Given the description of an element on the screen output the (x, y) to click on. 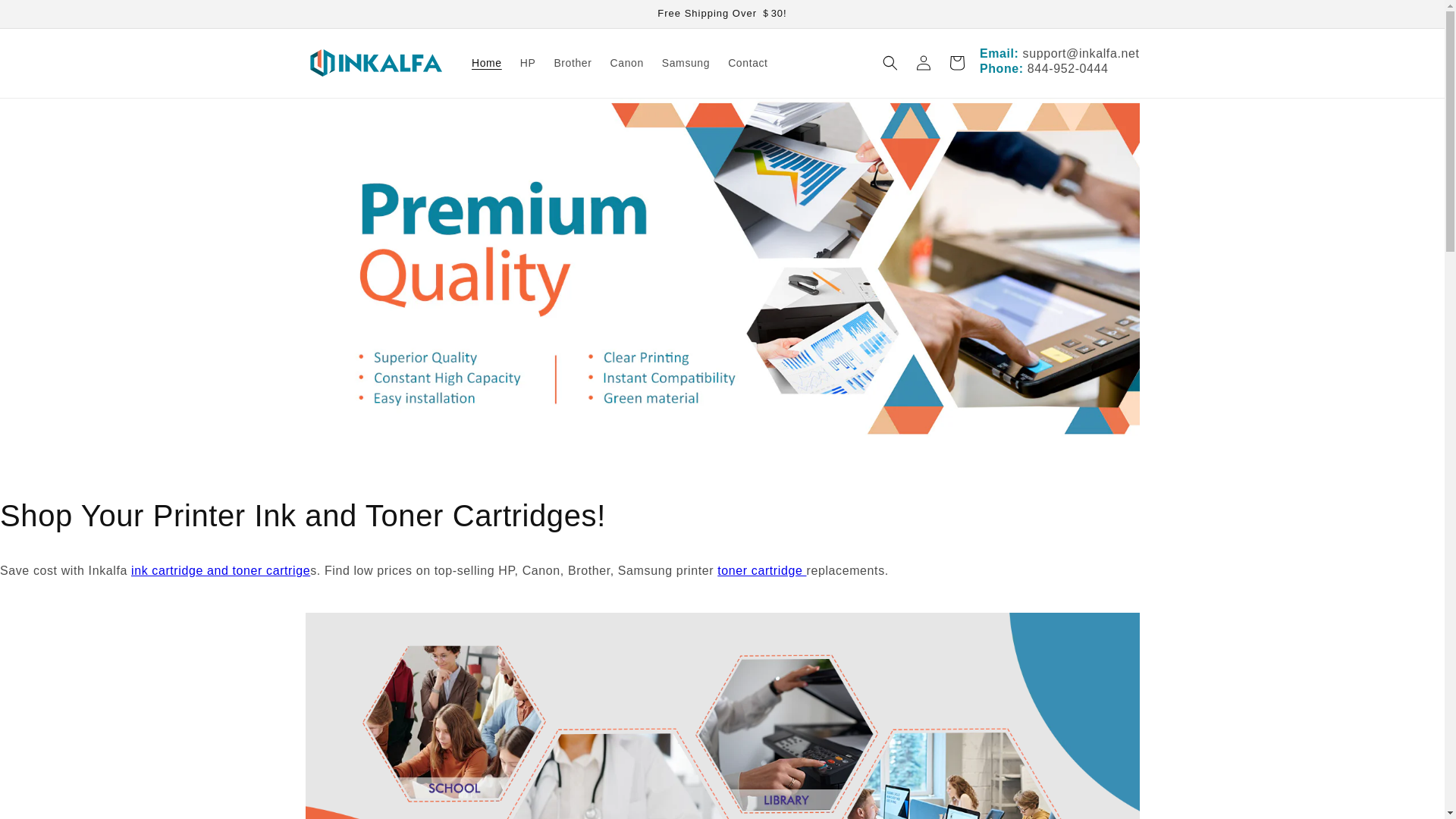
HP (527, 62)
Brother (571, 62)
Canon (626, 62)
Skip to content (45, 17)
Contact (747, 62)
Cart (957, 62)
toner cartridge (761, 570)
ink cartridge and toner cartrige (220, 570)
Home (487, 62)
Samsung (685, 62)
